Given the description of an element on the screen output the (x, y) to click on. 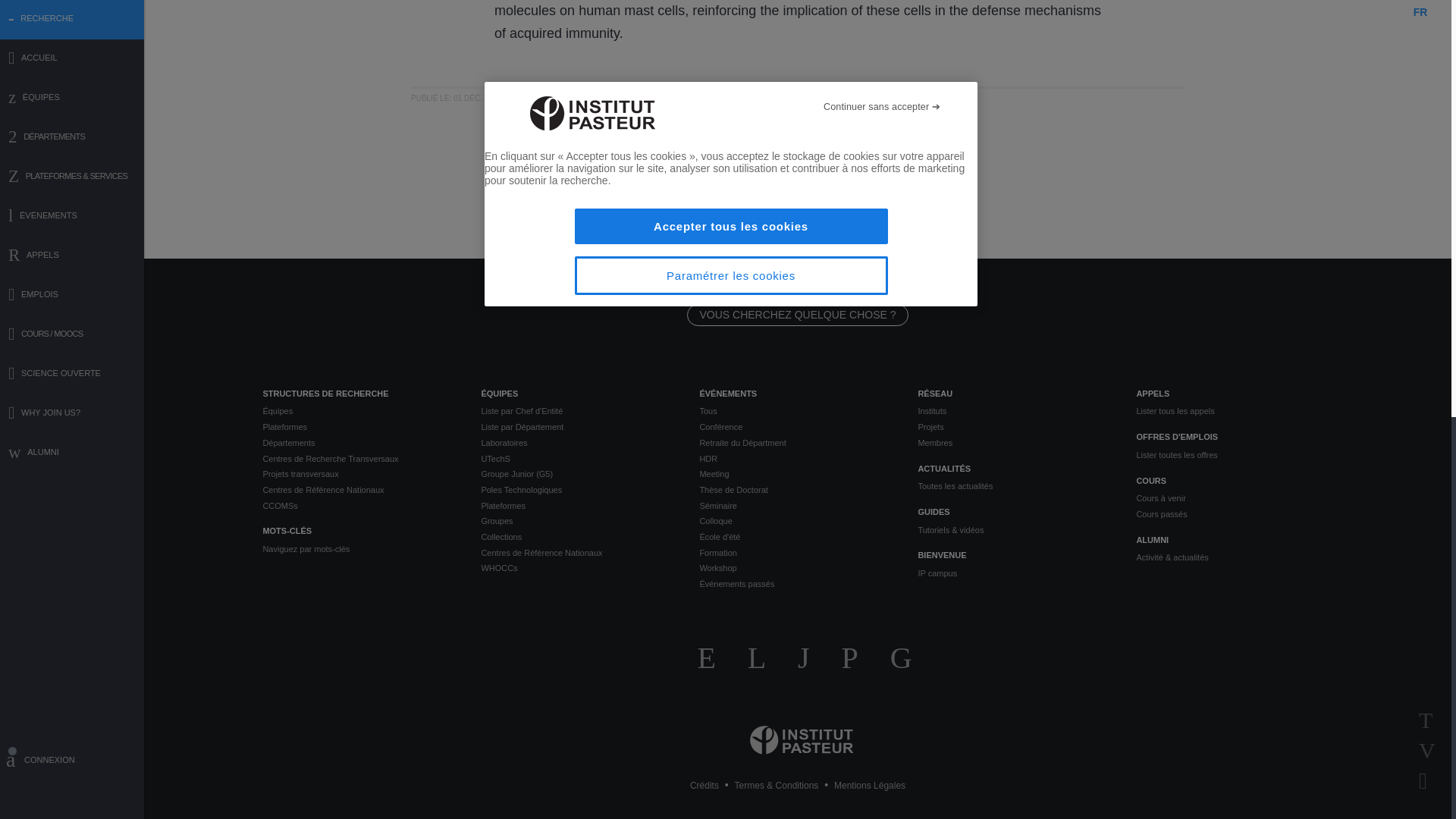
Plateformes (360, 427)
